Given the description of an element on the screen output the (x, y) to click on. 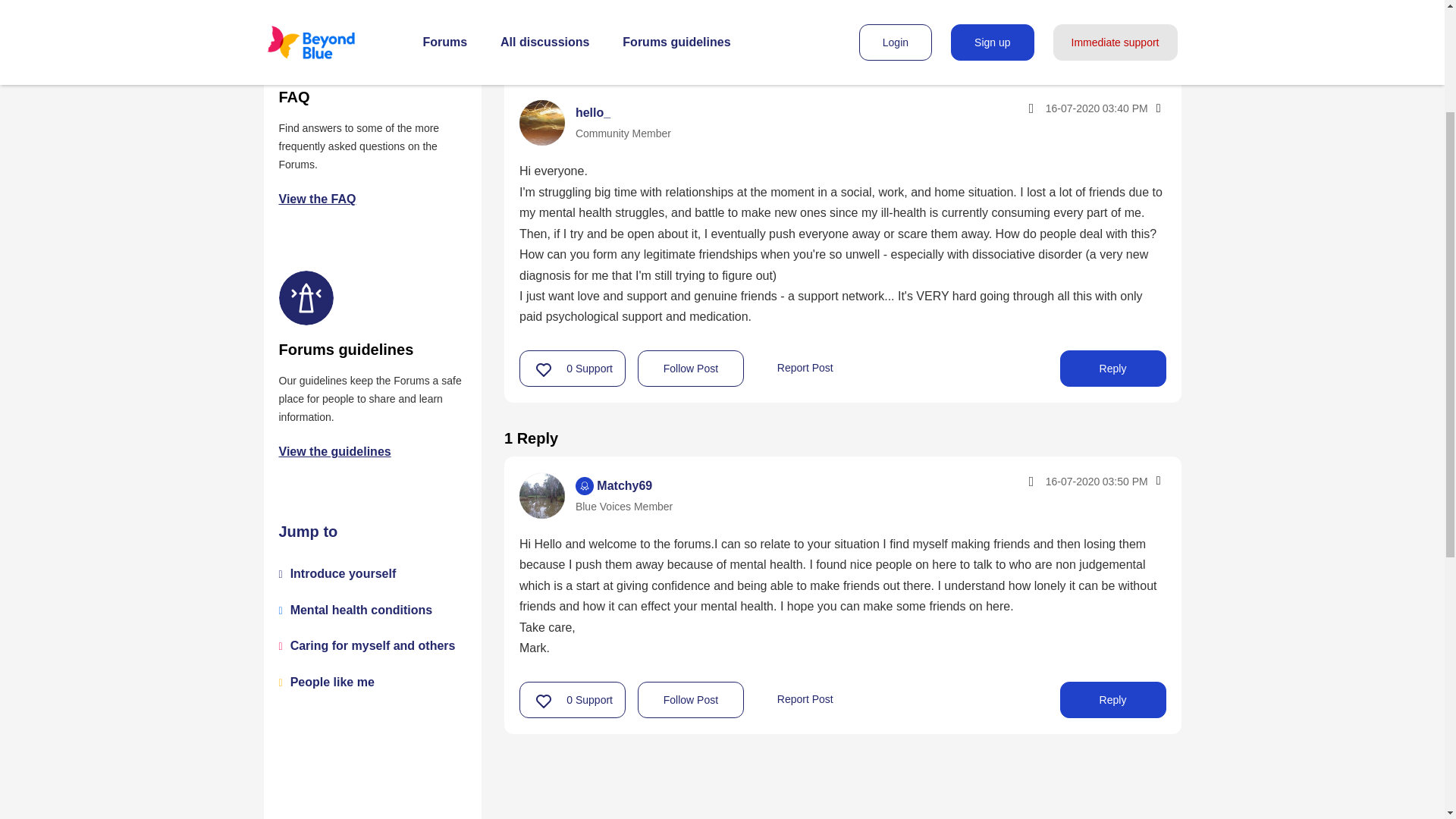
Options (1157, 108)
View the guidelines (335, 451)
Matchy69 (541, 495)
Introduce yourself (342, 573)
People like me (331, 681)
Show option menu (1157, 480)
Show option menu (1157, 108)
Click here to give support to this post. (543, 700)
Blue Voices Member (584, 485)
Posted on (1063, 480)
